Given the description of an element on the screen output the (x, y) to click on. 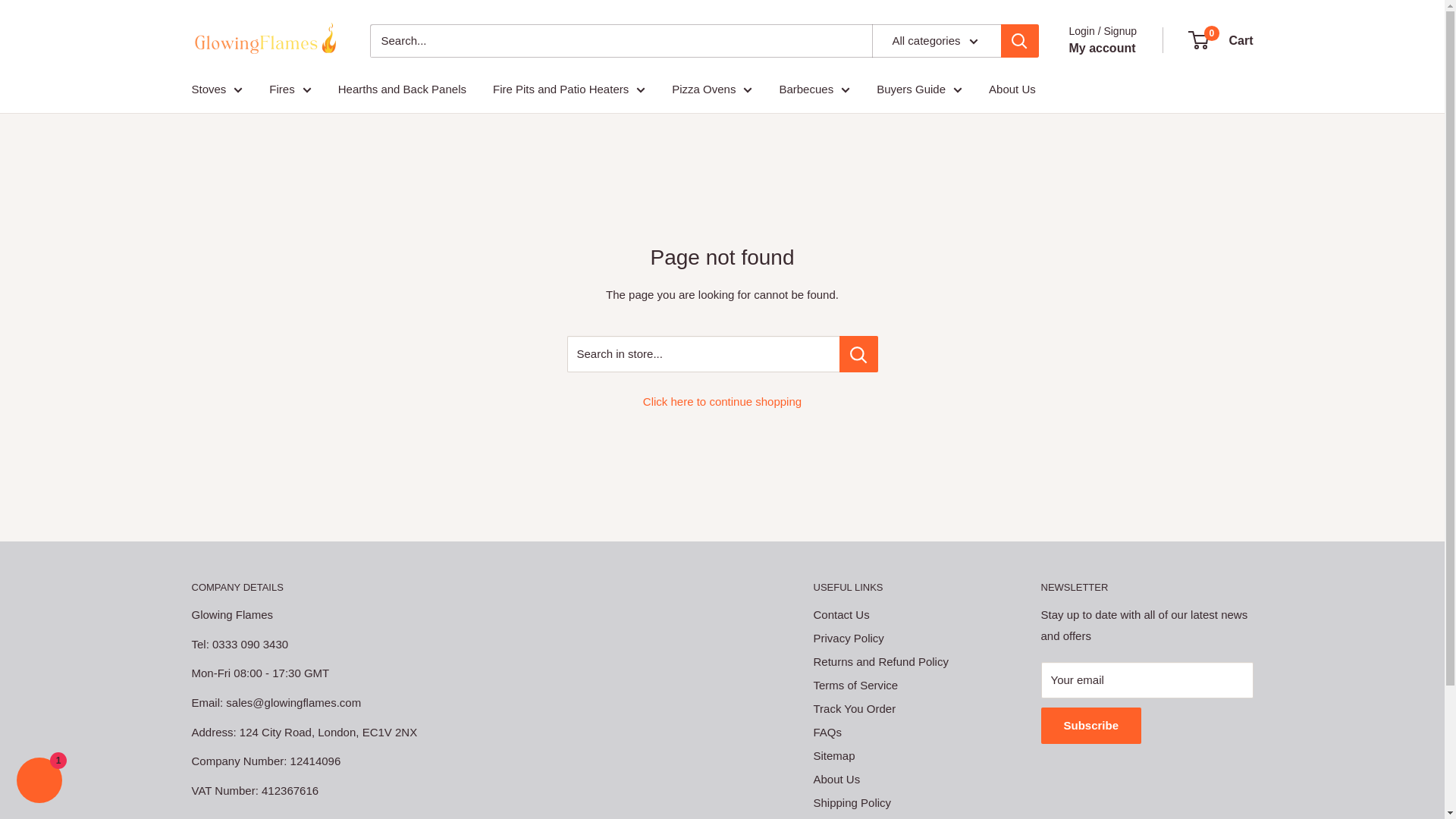
Shopify online store chat (38, 781)
